Given the description of an element on the screen output the (x, y) to click on. 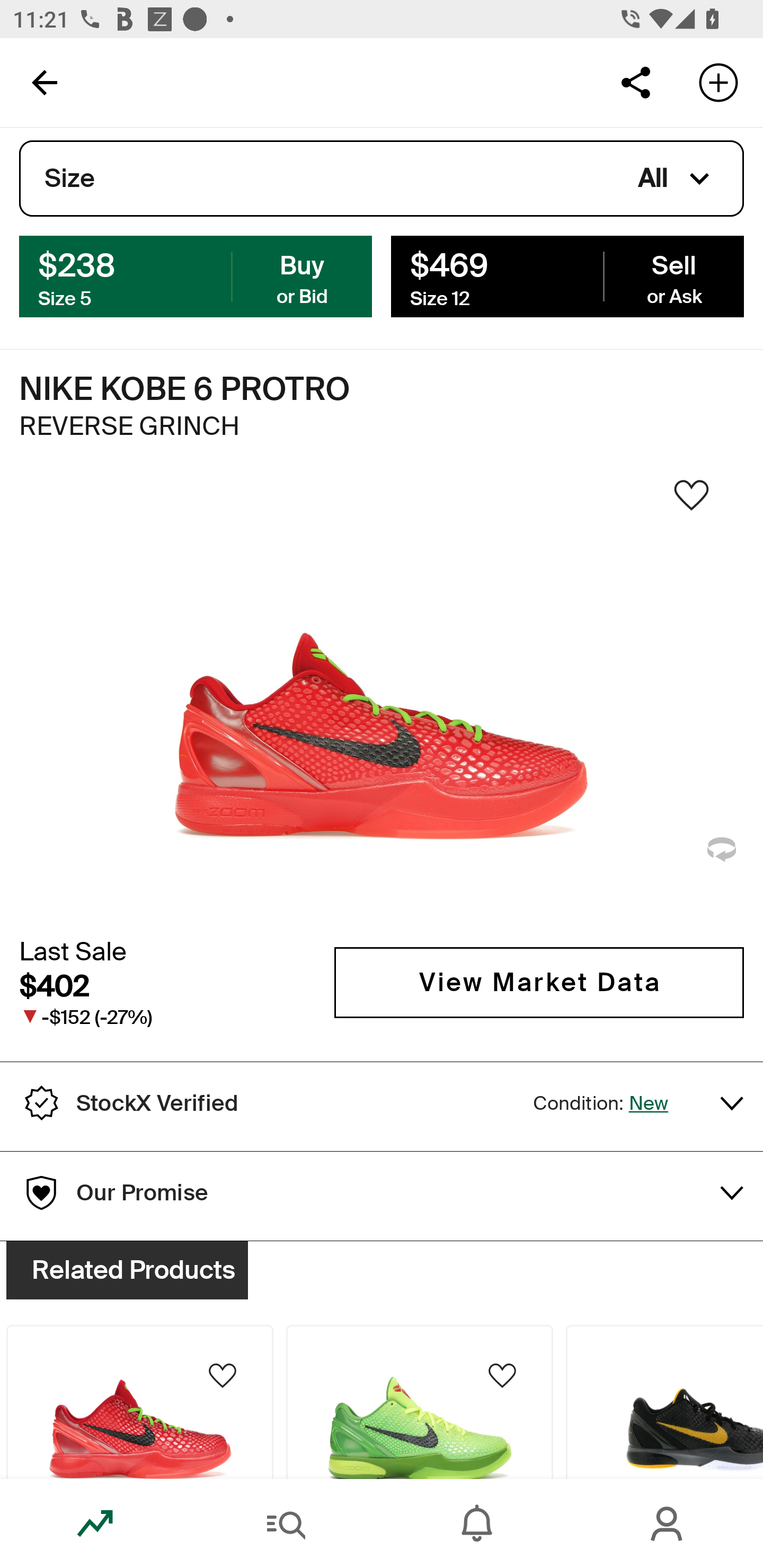
Share (635, 81)
Add (718, 81)
Size All (381, 178)
$238 Buy Size 5 or Bid (195, 275)
$469 Sell Size 12 or Ask (566, 275)
Sneaker Image (381, 699)
View Market Data (538, 982)
Product Image (139, 1401)
Product Image (419, 1401)
Product Image (664, 1401)
Search (285, 1523)
Inbox (476, 1523)
Account (667, 1523)
